Given the description of an element on the screen output the (x, y) to click on. 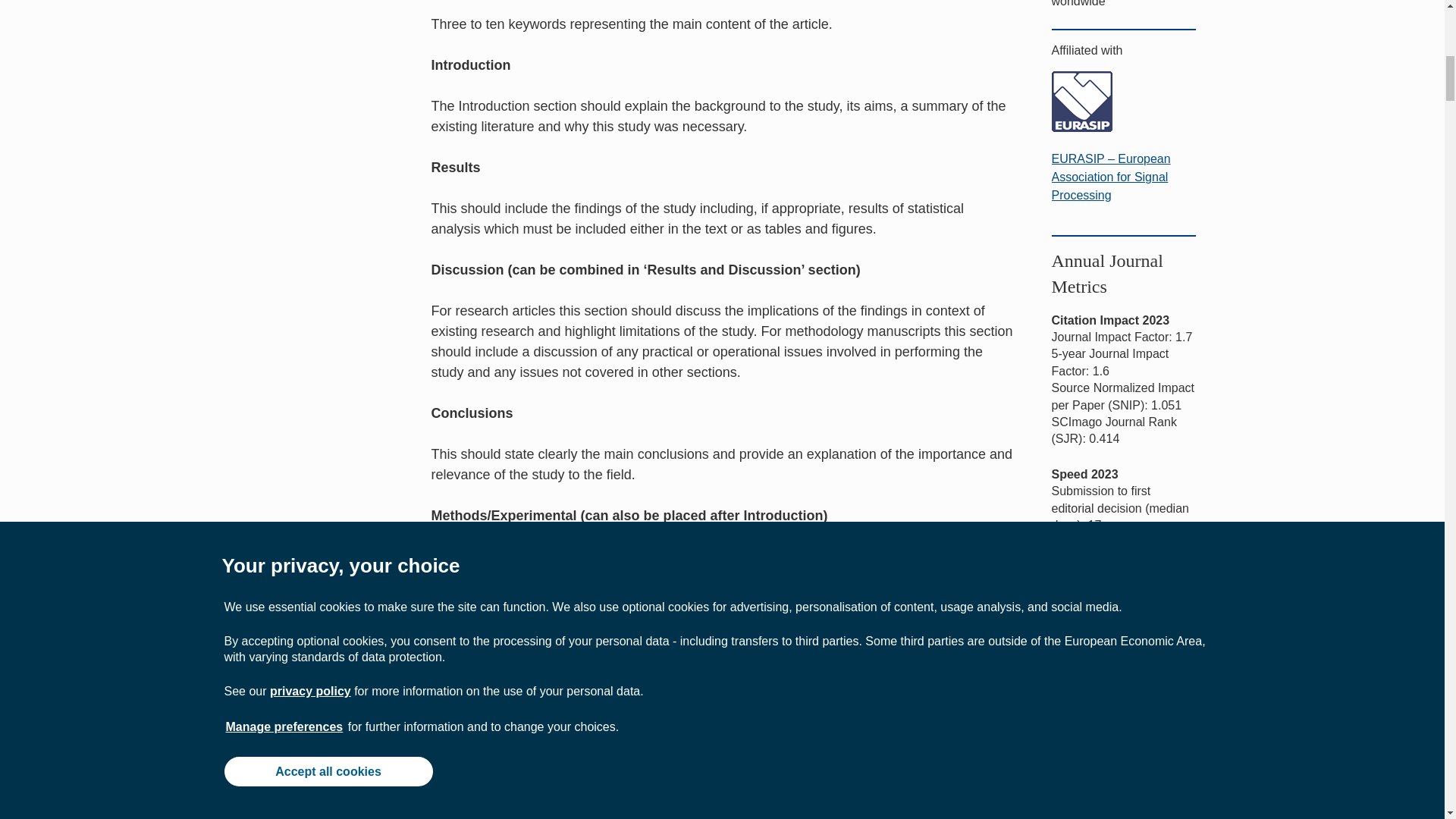
Open access funding and policy support by SpringerOpen (1123, 812)
